Given the description of an element on the screen output the (x, y) to click on. 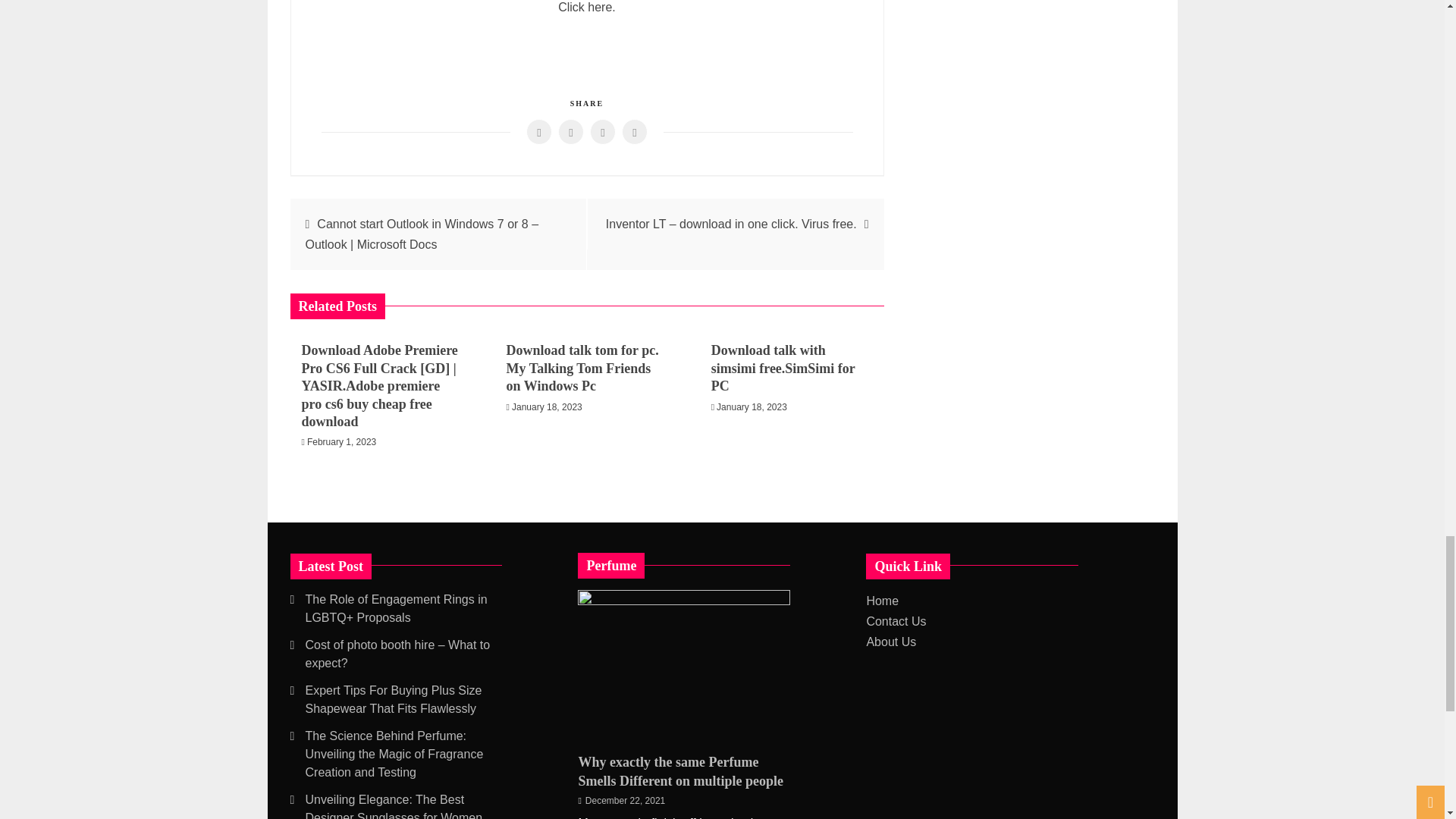
February 1, 2023 (341, 441)
January 18, 2023 (751, 407)
January 18, 2023 (547, 407)
Download talk with simsimi free.SimSimi for PC (783, 368)
